Given the description of an element on the screen output the (x, y) to click on. 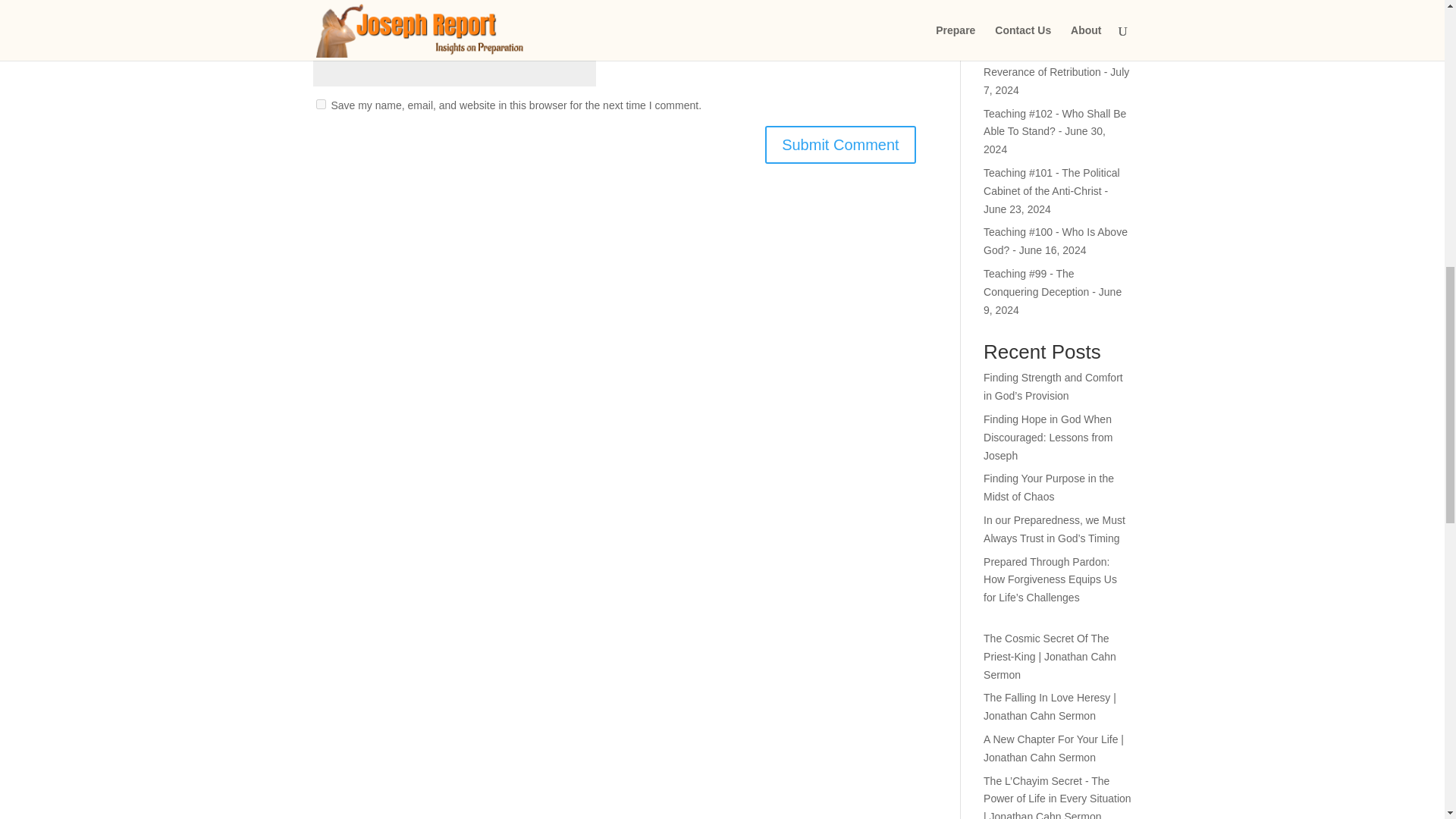
Christianity In Israel - Unplugged - 7-2-2024 (1035, 9)
Finding Your Purpose in the Midst of Chaos (1048, 487)
Submit Comment (840, 144)
yes (319, 103)
Finding Hope in God When Discouraged: Lessons from Joseph (1048, 437)
Submit Comment (840, 144)
